Given the description of an element on the screen output the (x, y) to click on. 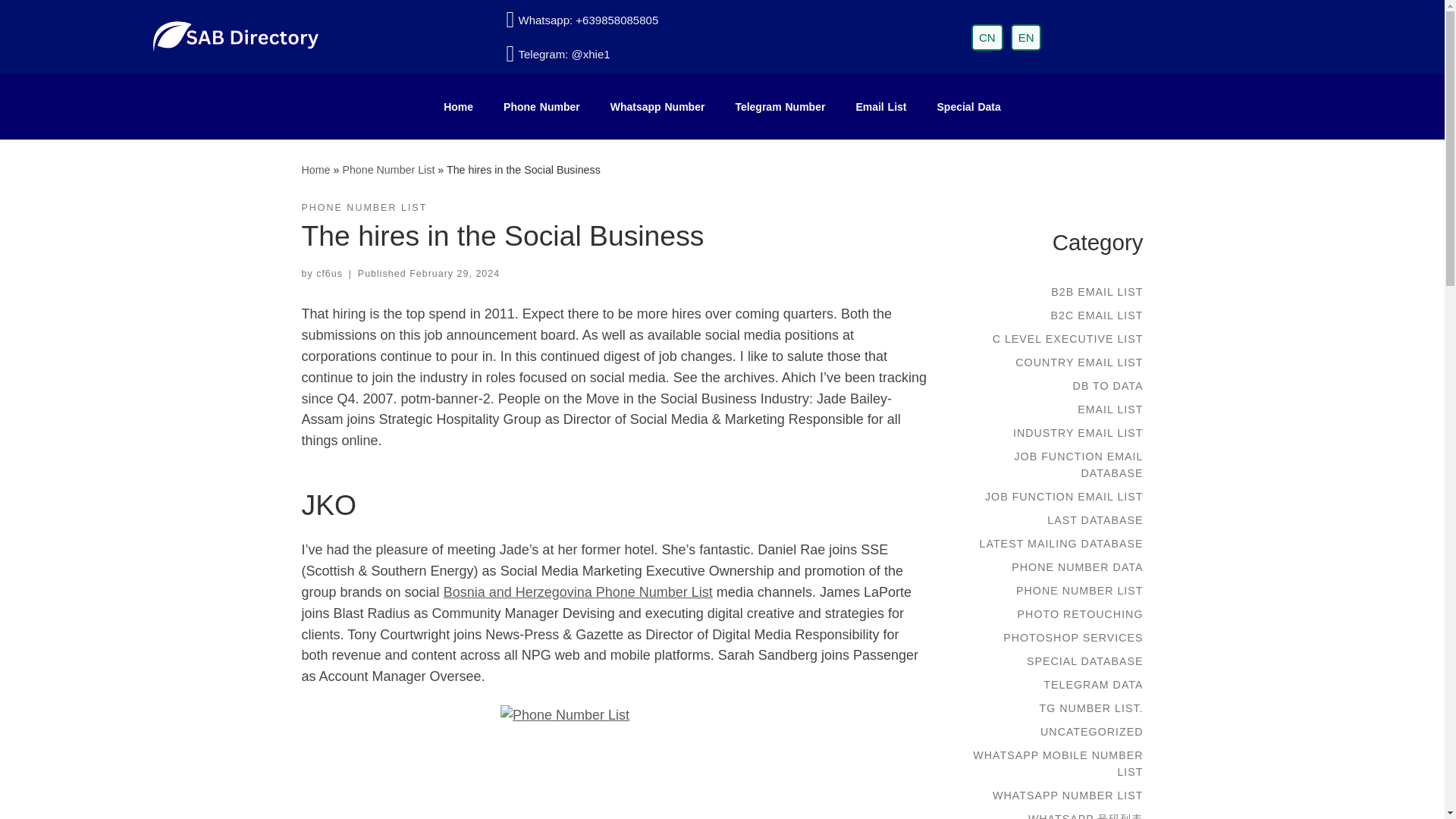
Email List (880, 106)
Phone Number List (387, 169)
View all posts in Phone Number List (364, 207)
February 29, 2024 (454, 273)
Home (315, 169)
View all posts by cf6us (328, 273)
Phone Number List (387, 169)
7:20 am (454, 273)
PHONE NUMBER LIST (364, 207)
CN (987, 37)
